Given the description of an element on the screen output the (x, y) to click on. 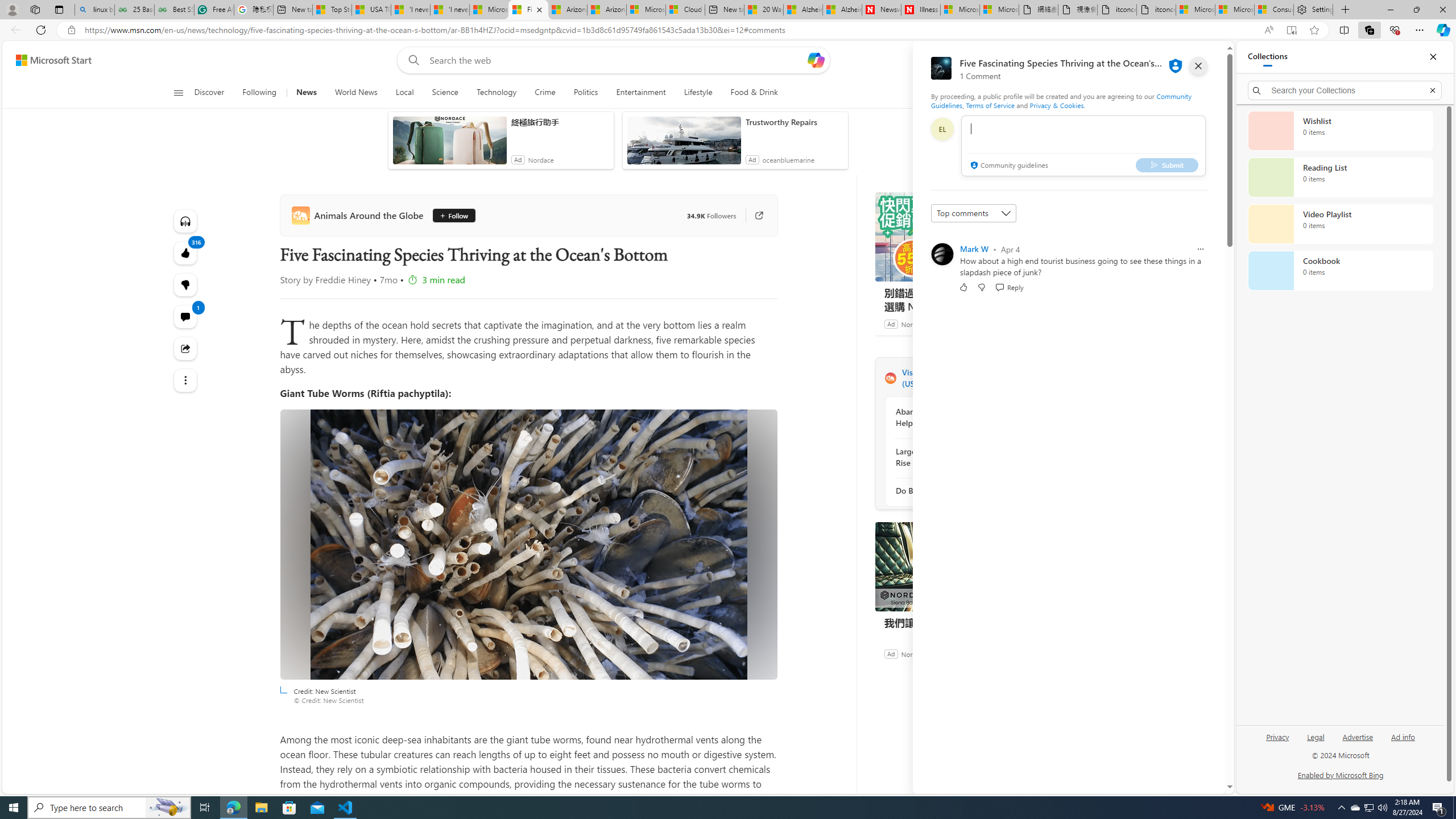
Nordace (914, 653)
Follow (452, 215)
Food & Drink (753, 92)
Dislike (981, 287)
comment-box (1082, 145)
Profile Picture (941, 254)
Ad Choice (1032, 653)
Microsoft Services Agreement (646, 9)
Reply Reply Comment (1008, 287)
316 Like (184, 252)
